Given the description of an element on the screen output the (x, y) to click on. 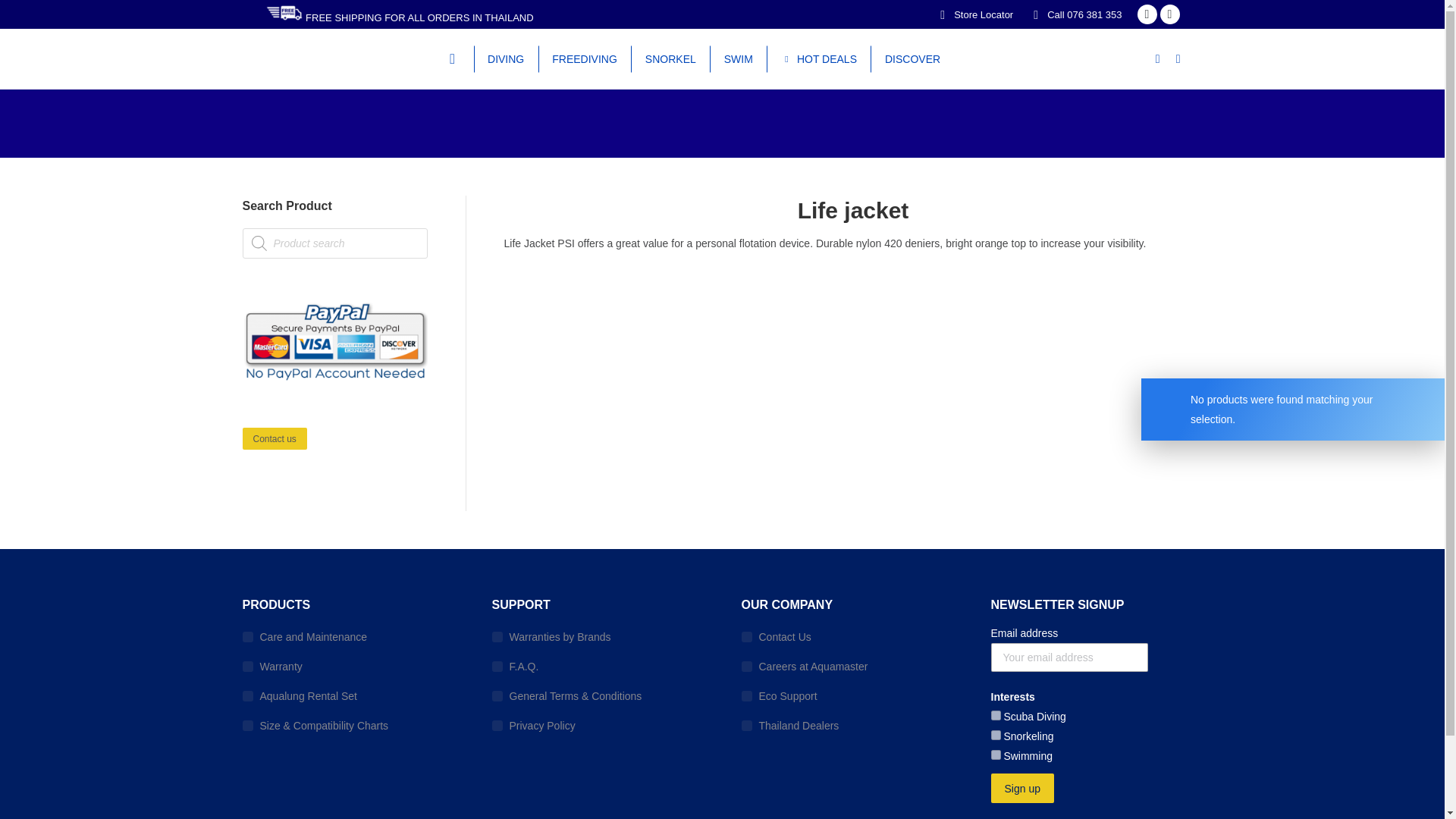
Store Locator (973, 14)
Instagram page opens in new window (1169, 14)
DIVING (505, 58)
Call 076 381 353 (1083, 14)
1eca506415 (995, 755)
Facebook page opens in new window (1147, 14)
Instagram page opens in new window (1169, 14)
Sign up (1021, 788)
90ee1ddc4a (995, 715)
0762829ca7 (995, 735)
